Given the description of an element on the screen output the (x, y) to click on. 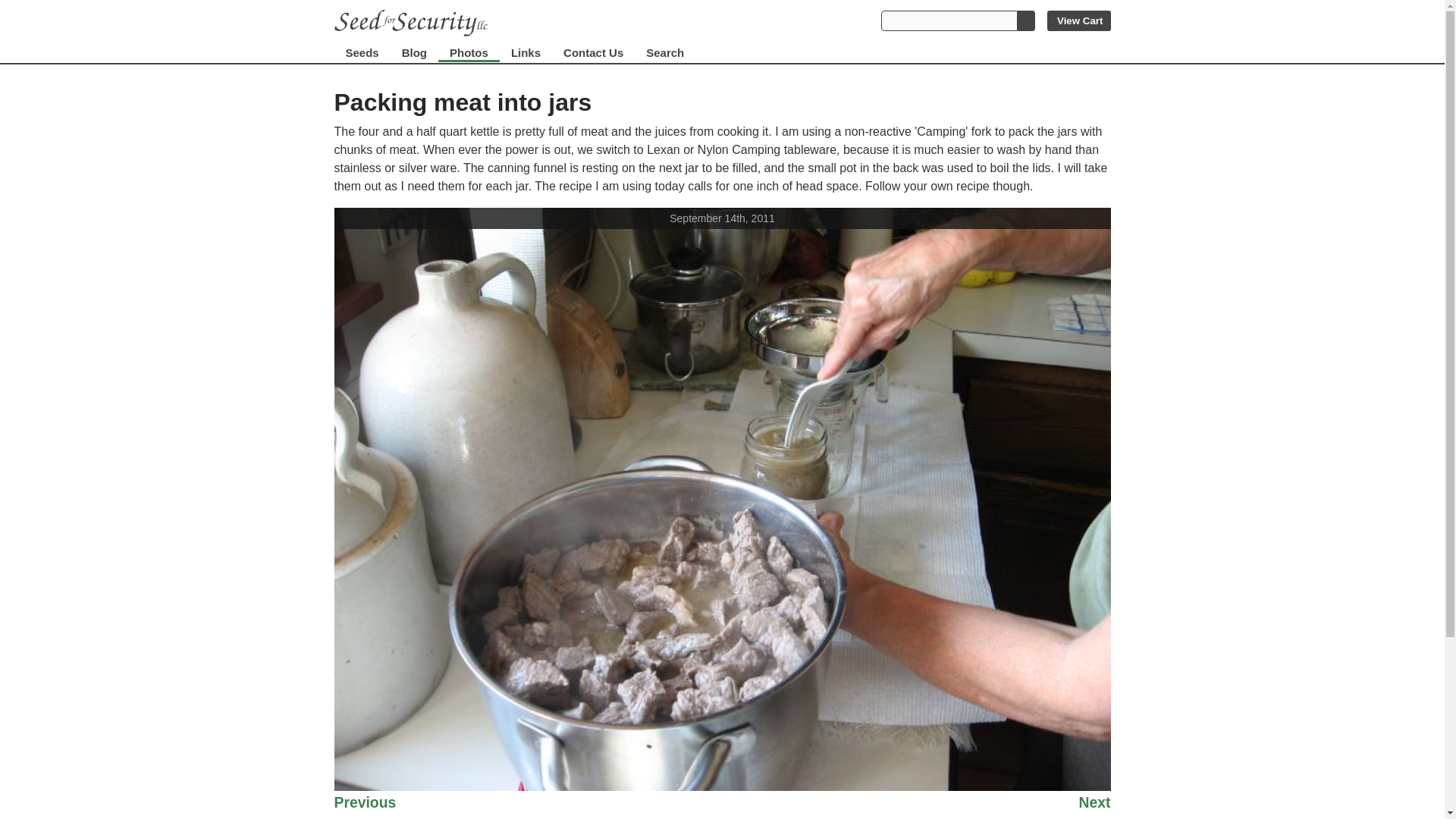
Seeds (361, 52)
Contact Us (592, 52)
Next (1094, 806)
Search (664, 52)
Links (525, 52)
Photos (468, 52)
View Cart (1078, 20)
Previous (364, 806)
Blog (414, 52)
